Given the description of an element on the screen output the (x, y) to click on. 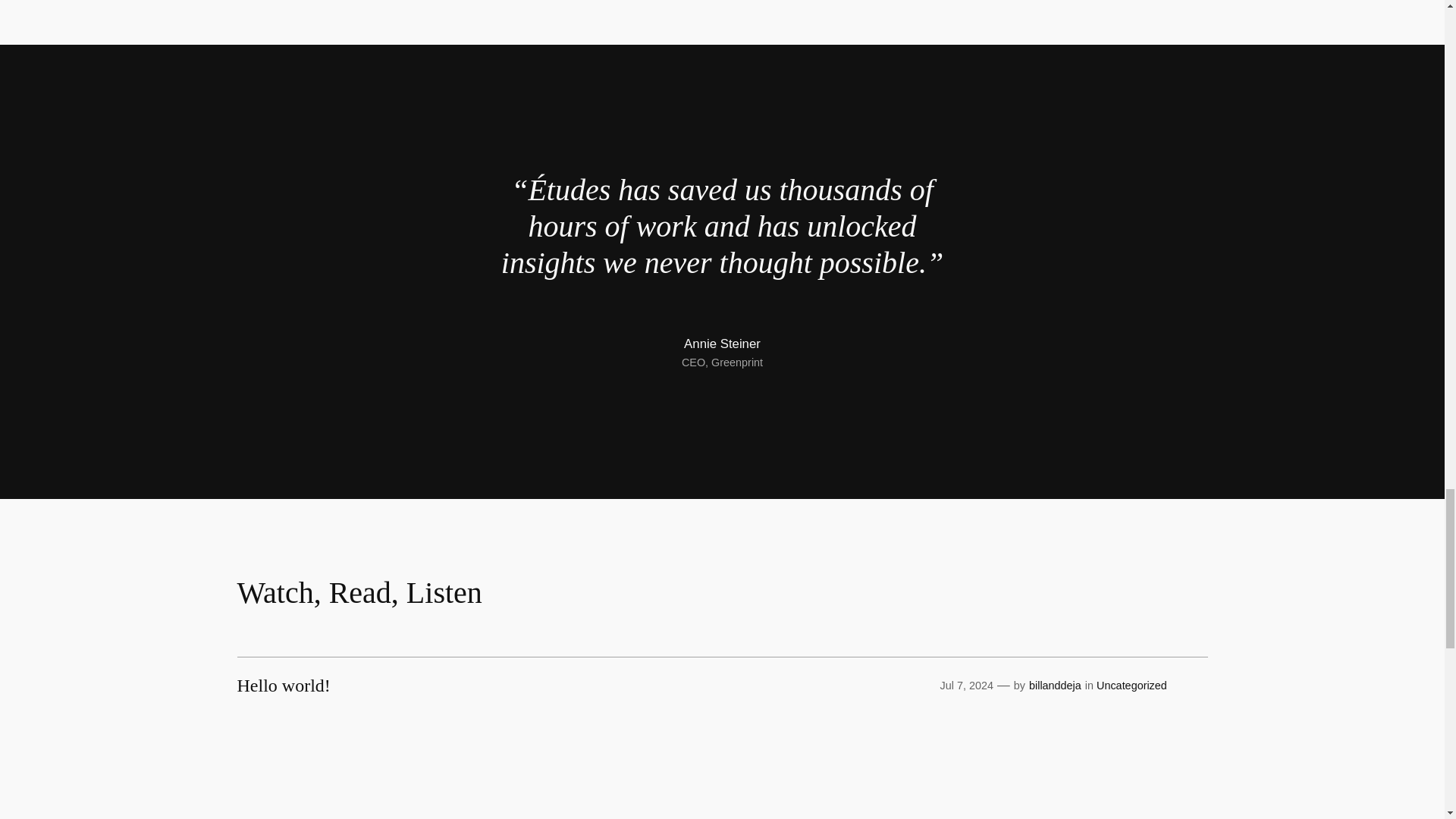
billanddeja (1055, 685)
Jul 7, 2024 (965, 685)
Uncategorized (1131, 685)
Hello world! (282, 685)
